Given the description of an element on the screen output the (x, y) to click on. 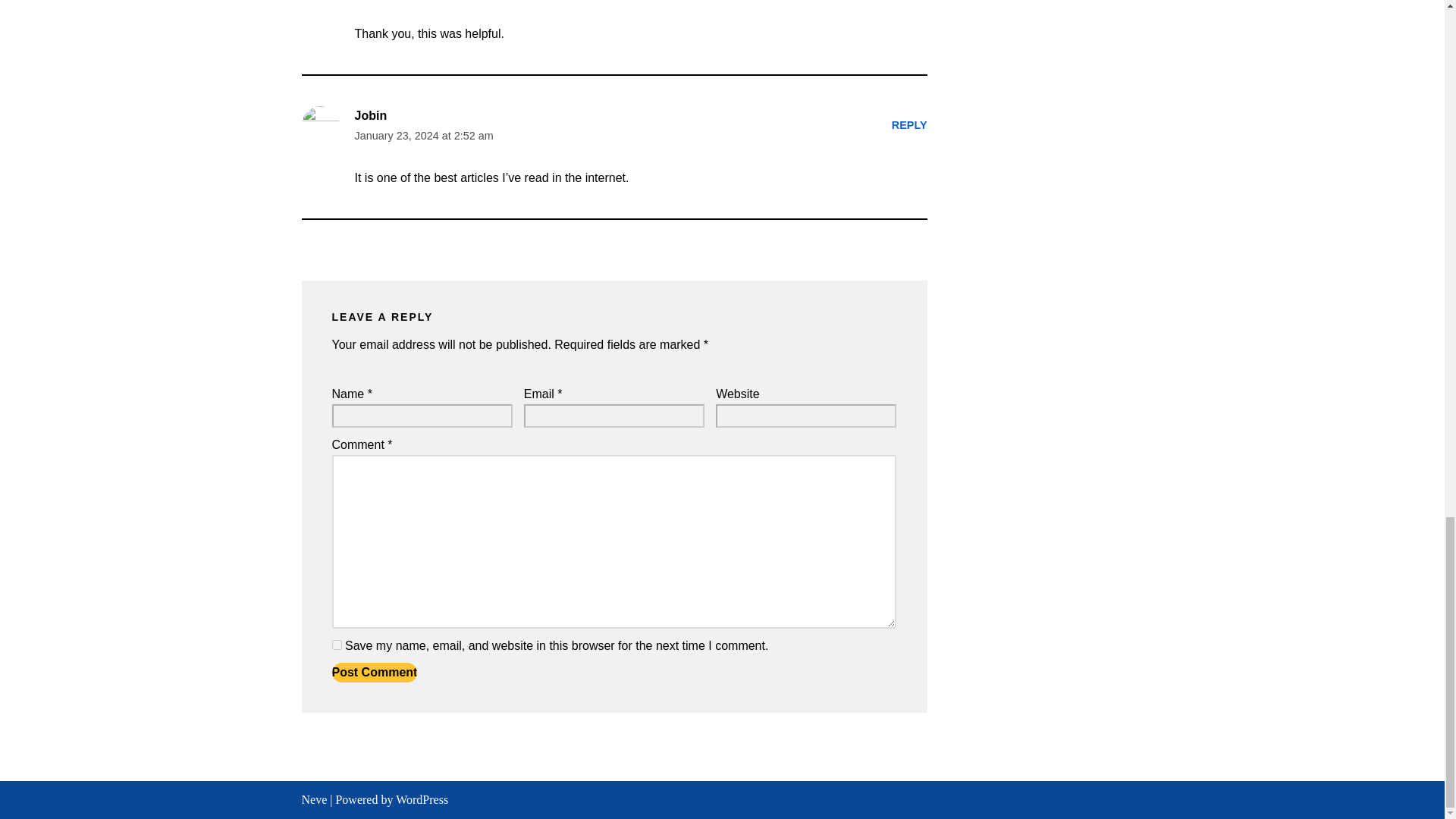
January 23, 2024 at 2:52 am (424, 136)
August 14, 2023 at 5:02 pm (422, 1)
Neve (314, 799)
WordPress (422, 799)
Post Comment (374, 672)
yes (336, 644)
REPLY (909, 124)
Post Comment (374, 672)
